Given the description of an element on the screen output the (x, y) to click on. 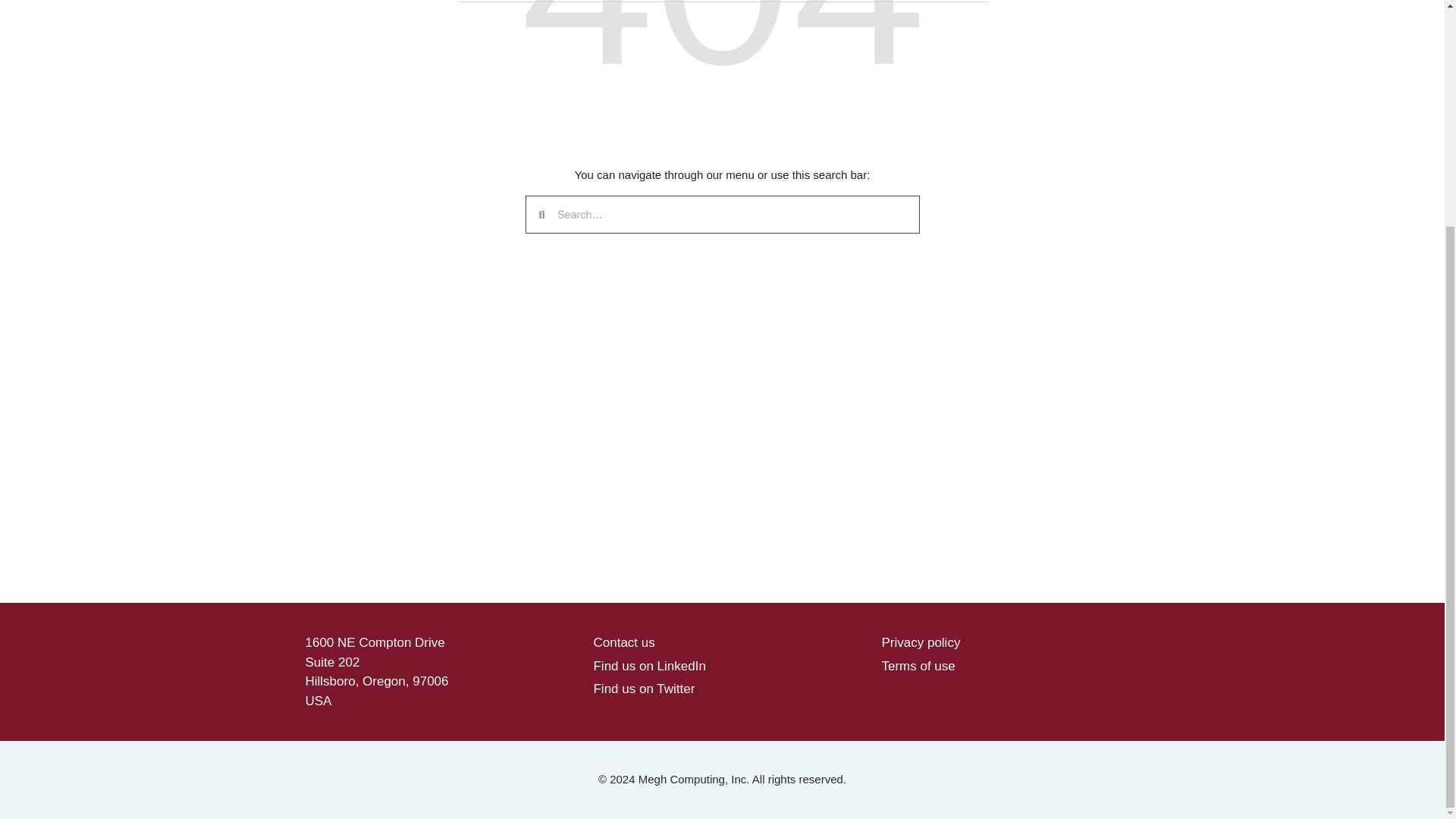
Contact us (622, 642)
Find us on LinkedIn (648, 665)
Find us on Twitter (643, 688)
Privacy policy (919, 642)
Terms of use (917, 665)
